Given the description of an element on the screen output the (x, y) to click on. 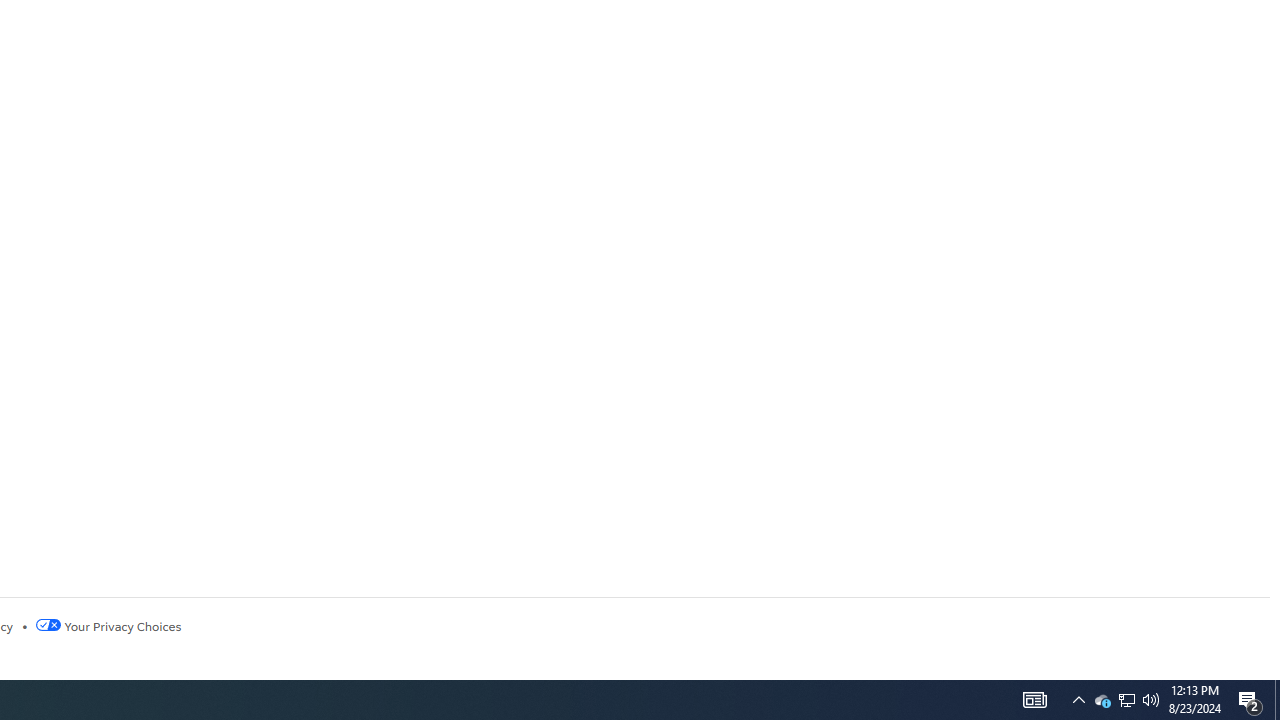
 Your Privacy Choices (108, 626)
